Given the description of an element on the screen output the (x, y) to click on. 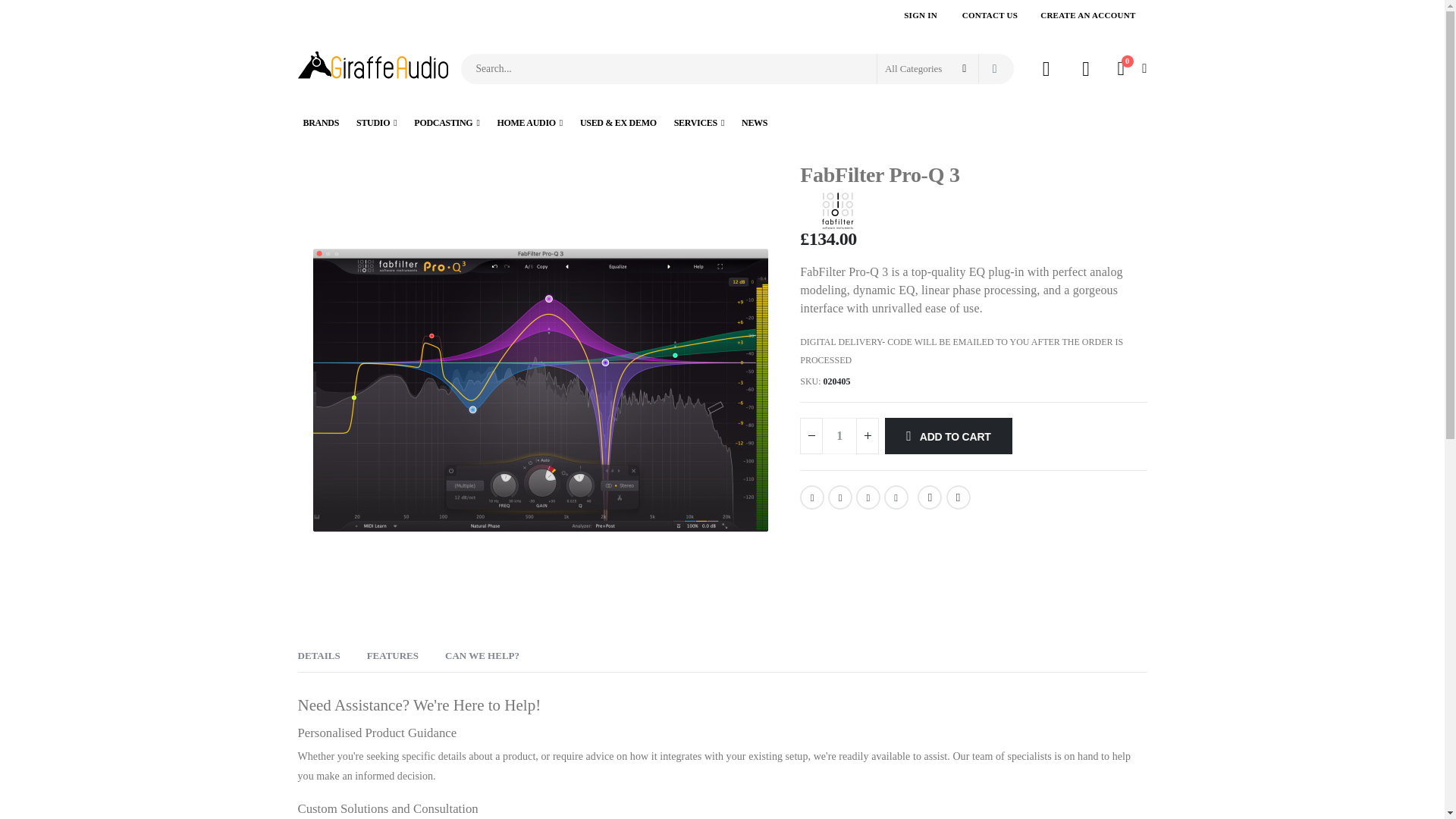
HOME AUDIO (529, 122)
SIGN IN (920, 14)
PODCASTING (446, 122)
Wishlist (1087, 68)
CREATE AN ACCOUNT (1088, 14)
Giraffe Audio (372, 68)
STUDIO (375, 122)
CONTACT US (989, 14)
Brands (320, 122)
Search (993, 69)
